Given the description of an element on the screen output the (x, y) to click on. 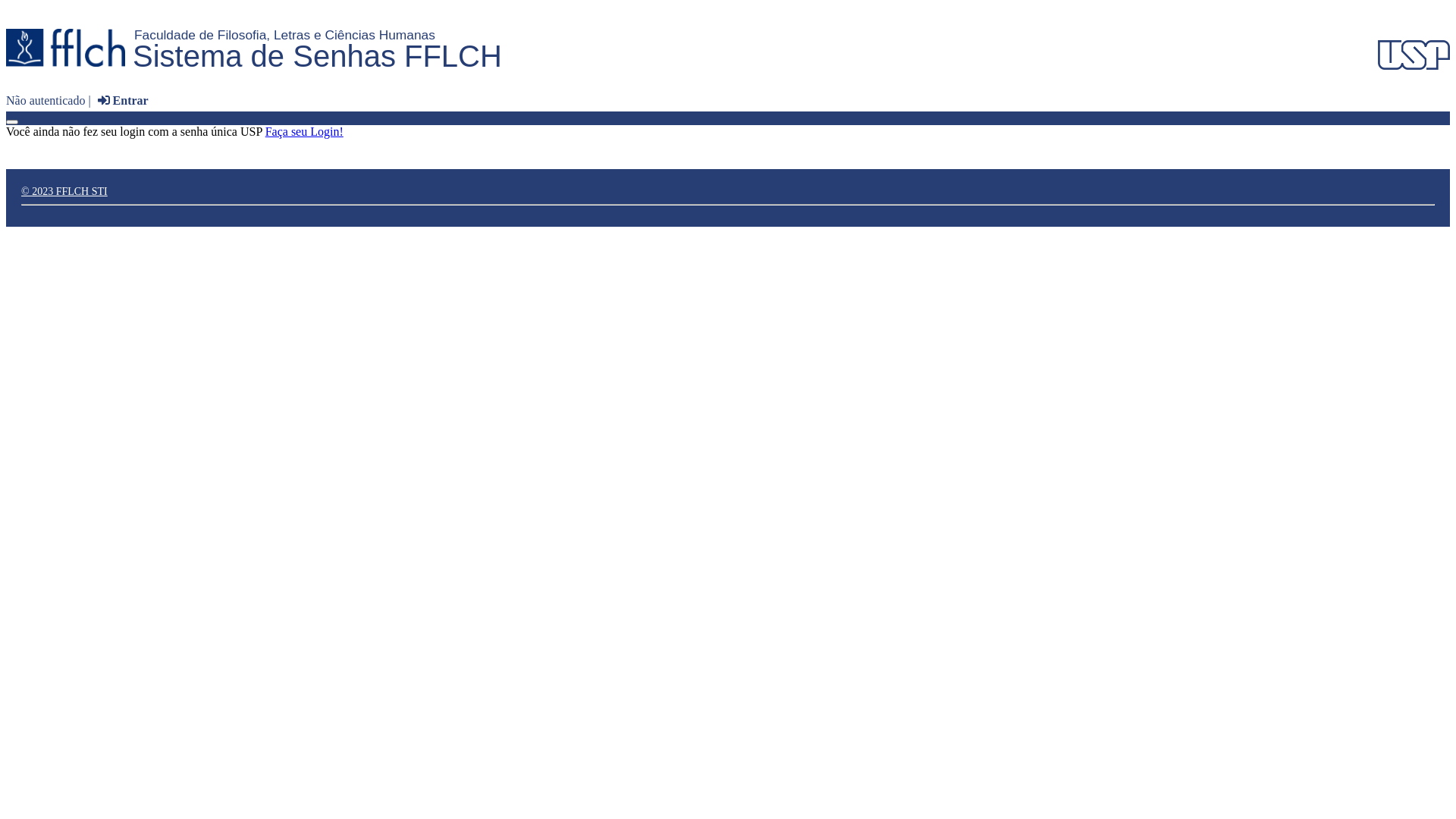
Sistema de Senhas FFLCH Element type: text (317, 55)
Entrar Element type: text (121, 100)
